Given the description of an element on the screen output the (x, y) to click on. 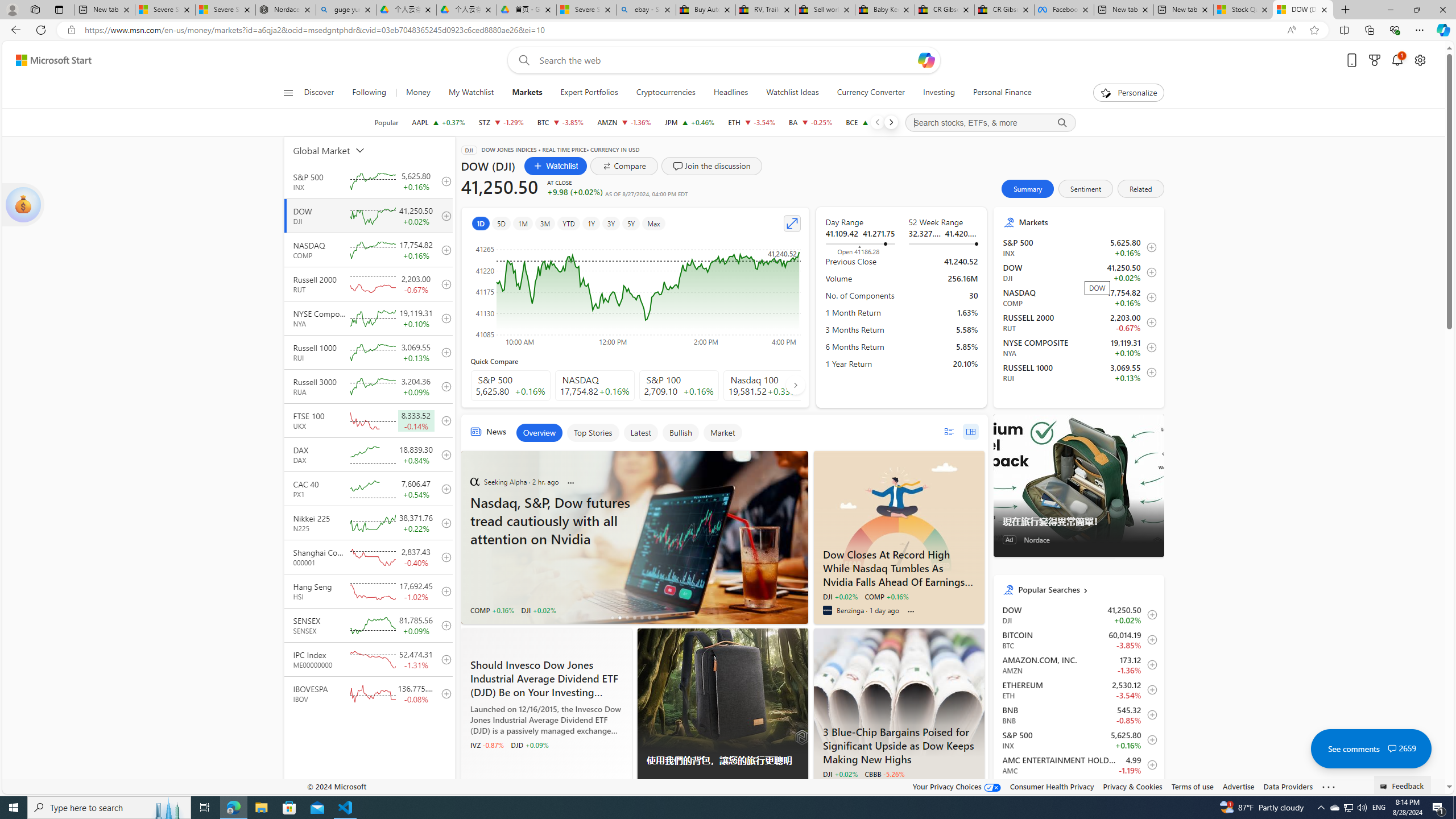
COMP +0.16% (885, 596)
Watchlist Ideas (791, 92)
CBBB -5.26% (883, 773)
list layout (948, 431)
Privacy & Cookies (1131, 786)
Markets (1086, 222)
